Given the description of an element on the screen output the (x, y) to click on. 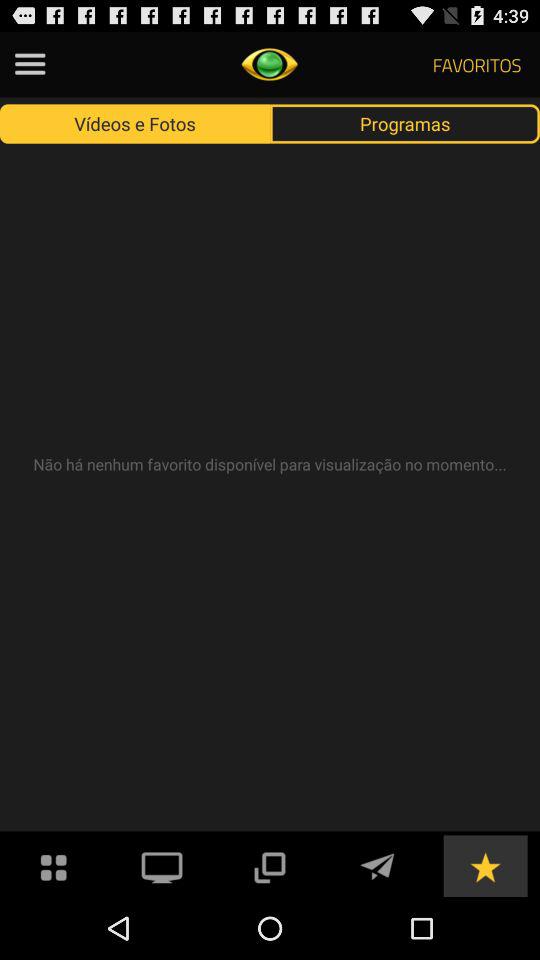
tap button at the bottom (269, 864)
